Given the description of an element on the screen output the (x, y) to click on. 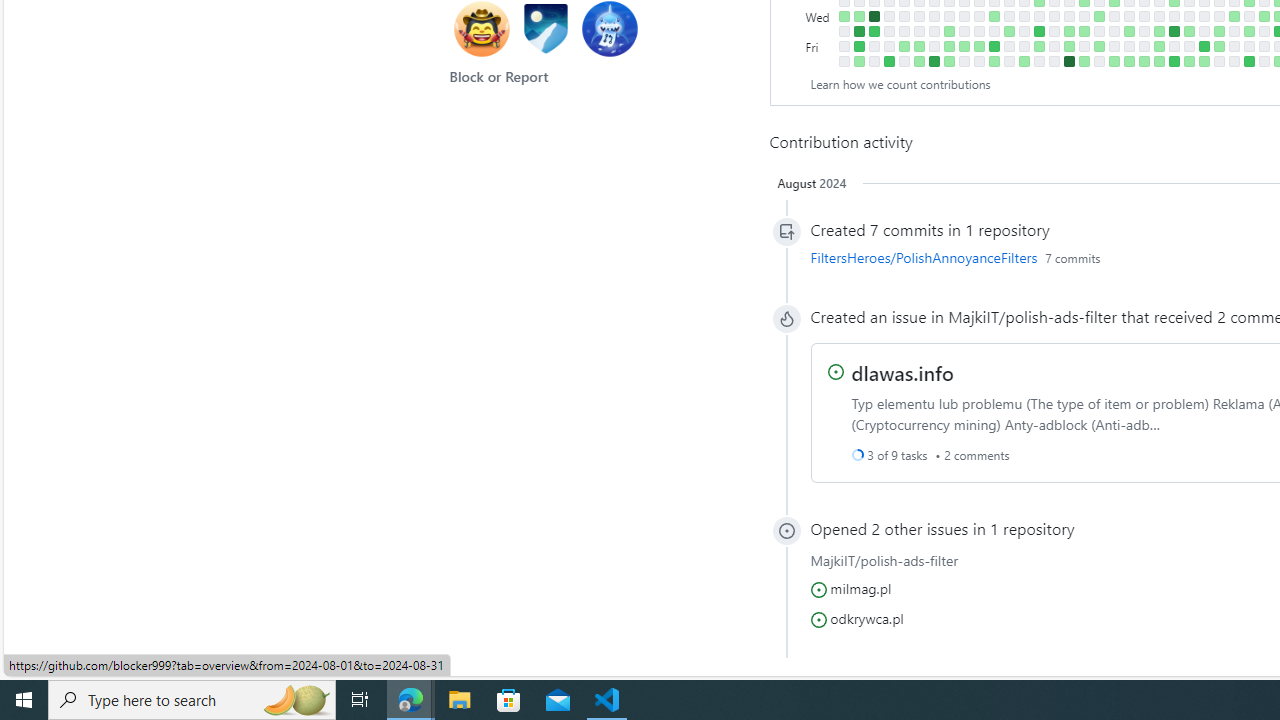
MajkiIT/polish-ads-filter (1032, 315)
No contributions on January 4th. (843, 30)
No contributions on June 14th. (1188, 46)
7 contributions on June 6th. (1173, 30)
FiltersHeroes/PolishAnnoyanceFilters (924, 257)
No contributions on February 8th. (918, 30)
3 contributions on March 30th. (1023, 61)
No contributions on May 29th. (1158, 16)
2 contributions on June 22nd. (1203, 61)
